Given the description of an element on the screen output the (x, y) to click on. 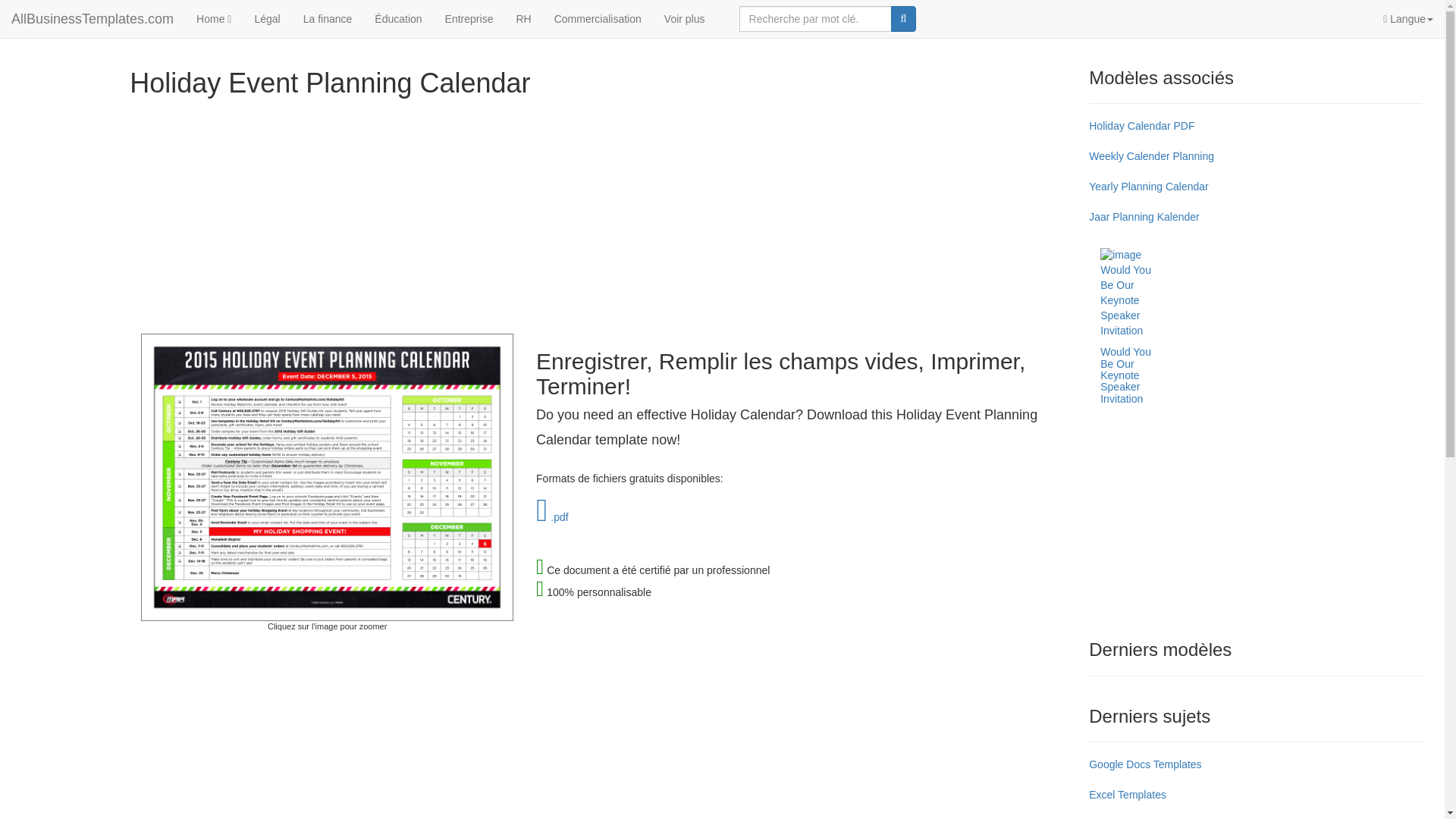
Entreprise (469, 18)
La finance (328, 18)
RH (522, 18)
AllBusinessTemplates.com (92, 18)
Commercialisation (597, 18)
.pdf (552, 517)
Home (213, 18)
Voir plus (684, 18)
